Given the description of an element on the screen output the (x, y) to click on. 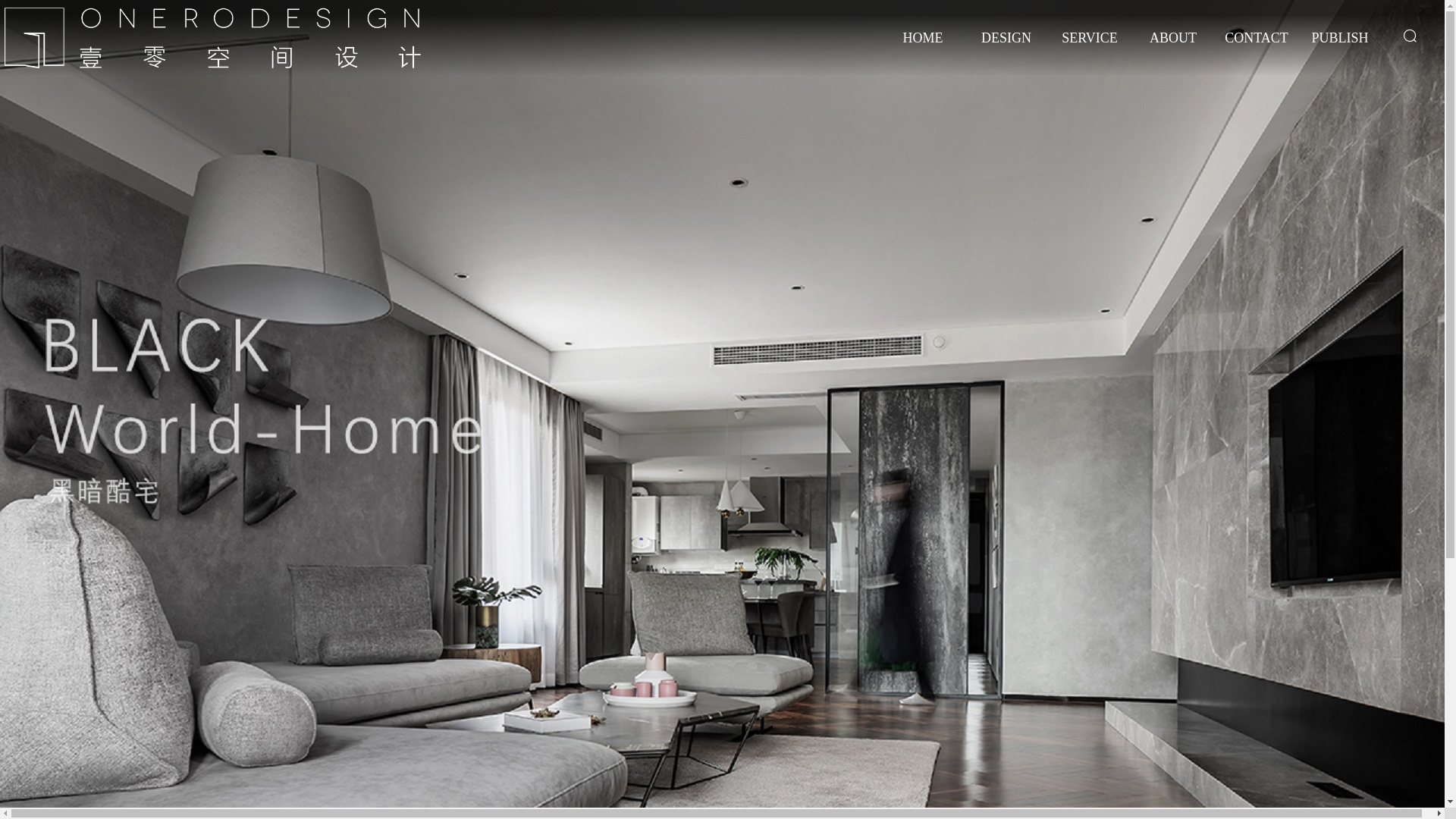
DESIGN Element type: text (1006, 49)
PUBLISH Element type: text (1339, 49)
SERVICE Element type: text (1089, 49)
ABOUT Element type: text (1173, 49)
CONTACT Element type: text (1256, 49)
HOME Element type: text (922, 49)
